Given the description of an element on the screen output the (x, y) to click on. 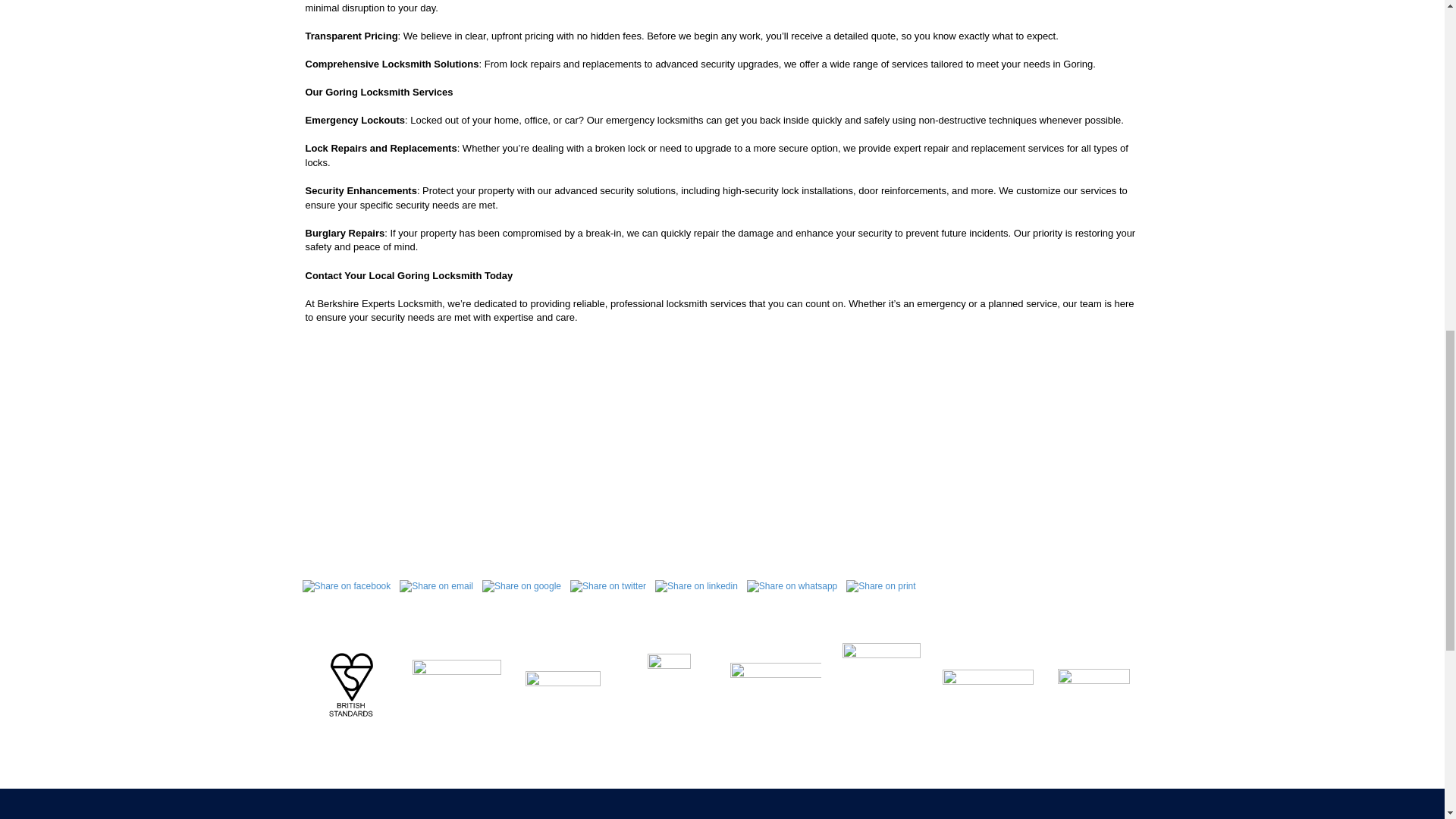
linkedin (696, 586)
twitter (608, 586)
google (521, 586)
facebook (345, 586)
email (435, 586)
